Given the description of an element on the screen output the (x, y) to click on. 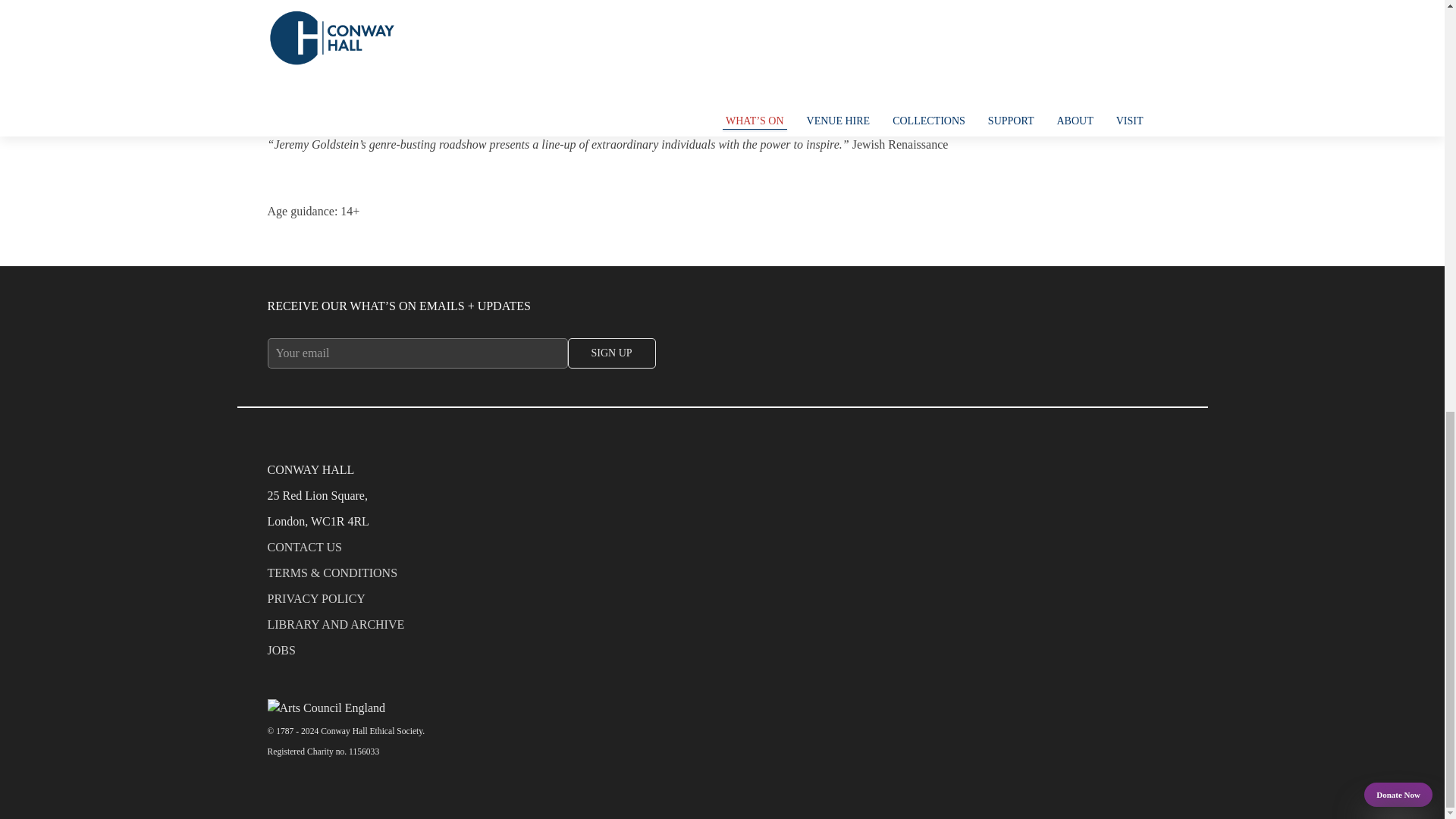
LIBRARY AND ARCHIVE (721, 628)
Sign Up (611, 353)
CONTACT US (721, 551)
JOBS (721, 654)
Sign Up (611, 353)
PRIVACY POLICY (721, 602)
